Given the description of an element on the screen output the (x, y) to click on. 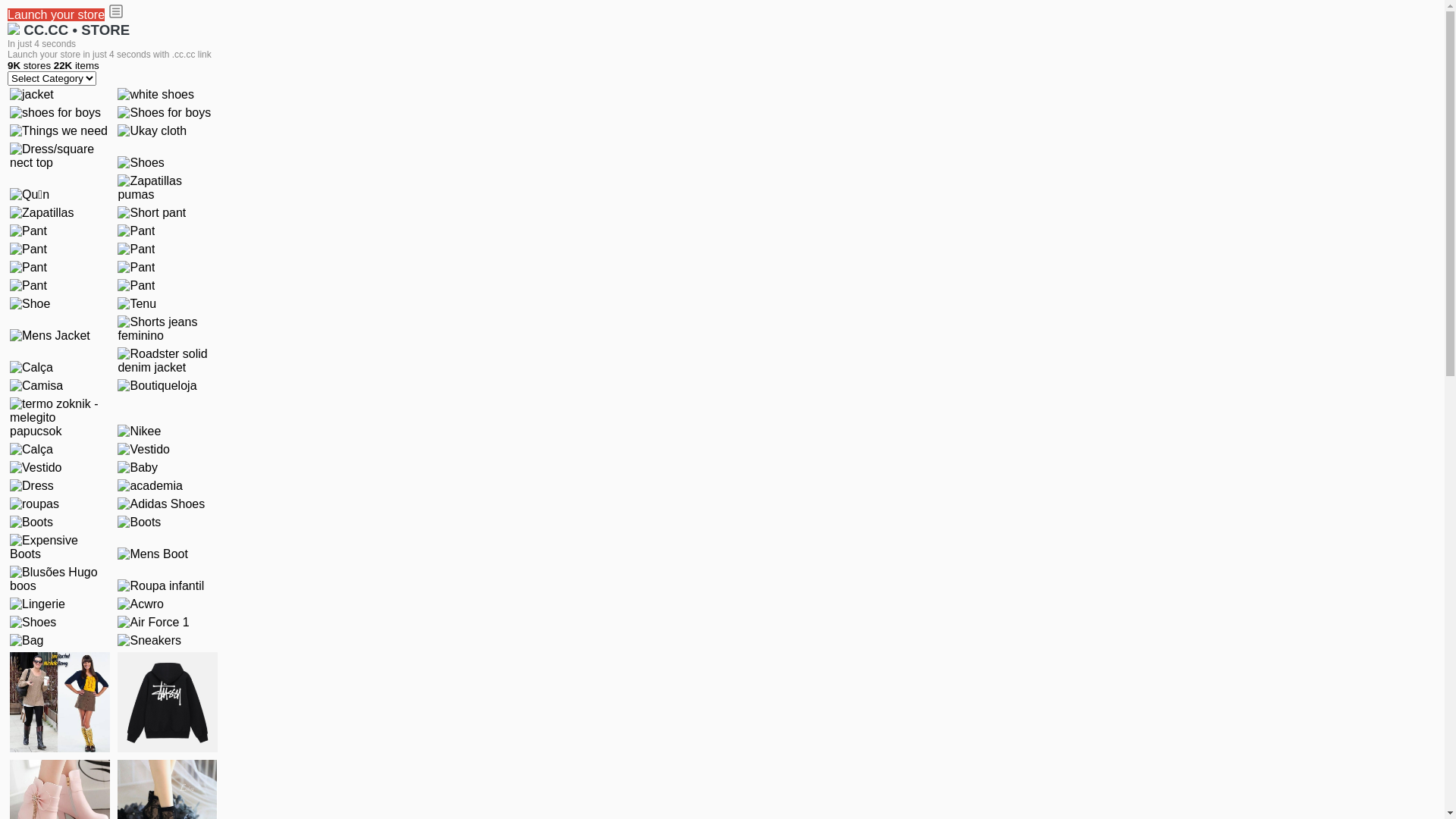
Adidas Shoes Element type: hover (160, 504)
Pant Element type: hover (135, 249)
Air Force 1 Element type: hover (152, 622)
Acwro Element type: hover (140, 604)
Dress/square nect top Element type: hover (59, 155)
Roupa infantil Element type: hover (160, 586)
Short pant Element type: hover (151, 212)
Boots Element type: hover (31, 522)
Bag Element type: hover (26, 640)
Shoes Element type: hover (32, 622)
Roadster solid denim jacket Element type: hover (167, 360)
Boots Element type: hover (138, 522)
Camisa Element type: hover (35, 385)
shoes for boys Element type: hover (54, 112)
Pant Element type: hover (28, 231)
Shoes for boys Element type: hover (163, 112)
Pant Element type: hover (28, 285)
Pant Element type: hover (135, 231)
Sneakers Element type: hover (149, 640)
jacket Element type: hover (31, 94)
termo zoknik - melegito papucsok Element type: hover (59, 417)
Pant Element type: hover (28, 267)
Ukay cloth Element type: hover (151, 131)
Nikee Element type: hover (138, 431)
Mens Boot Element type: hover (152, 554)
Expensive Boots Element type: hover (59, 547)
Pant Element type: hover (135, 267)
Pant Element type: hover (135, 285)
Zapatillas pumas Element type: hover (167, 187)
Lingerie Element type: hover (37, 604)
academia Element type: hover (149, 485)
Things we need Element type: hover (58, 131)
Vestido Element type: hover (35, 467)
Pant Element type: hover (28, 249)
Shoes Element type: hover (140, 162)
Launch your store Element type: text (55, 14)
Shoe Element type: hover (29, 303)
Tenu Element type: hover (136, 303)
Zapatillas Element type: hover (41, 212)
Mens Jacket Element type: hover (49, 335)
Boutiqueloja Element type: hover (156, 385)
Baby Element type: hover (136, 467)
Shorts jeans feminino Element type: hover (167, 328)
white shoes Element type: hover (155, 94)
Vestido Element type: hover (143, 449)
Stussy Element type: hover (167, 702)
Roupa Element type: hover (59, 702)
Dress Element type: hover (31, 485)
roupas Element type: hover (34, 504)
